Given the description of an element on the screen output the (x, y) to click on. 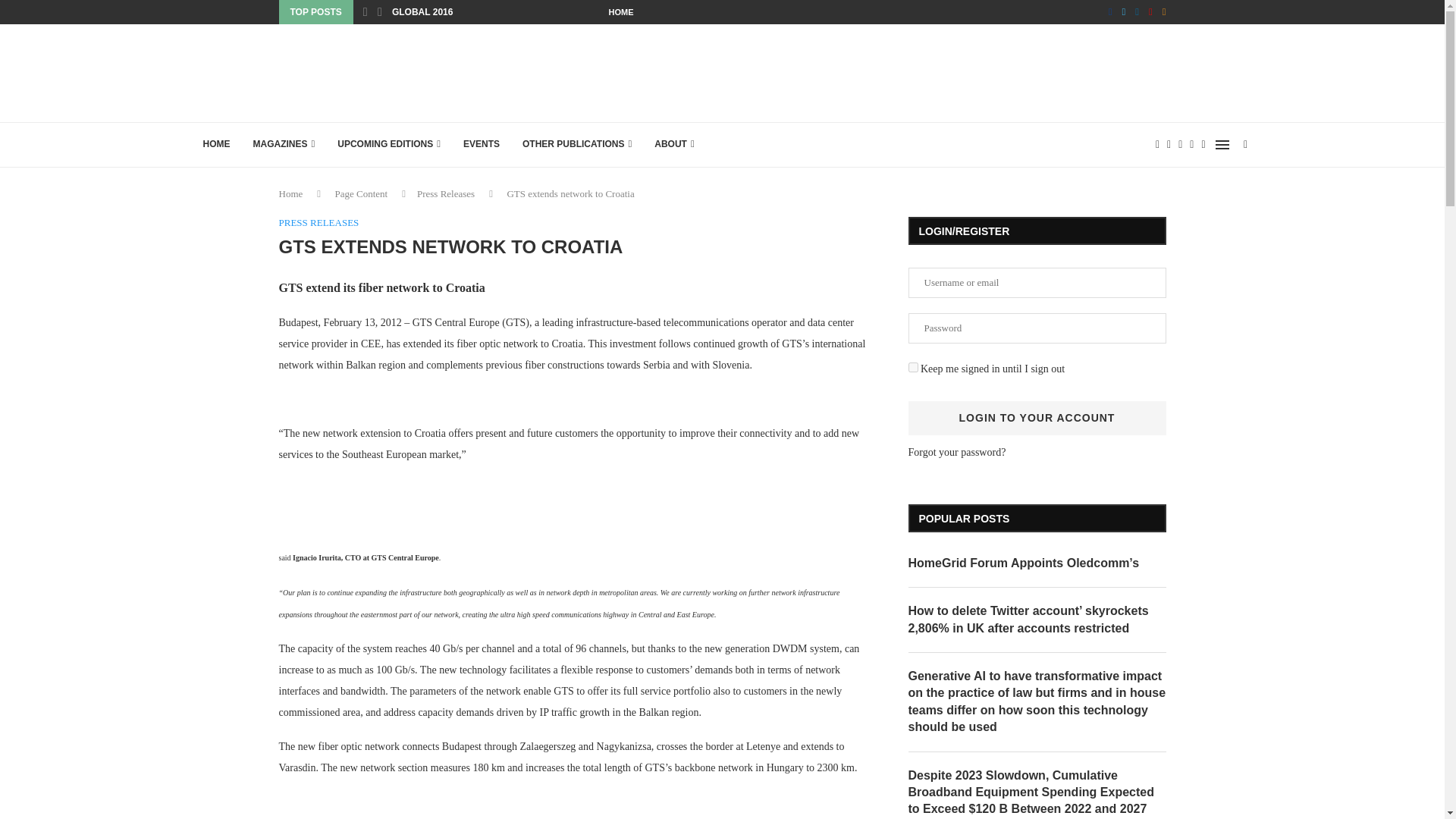
forever (913, 367)
Login to your account (1037, 417)
HOME (620, 12)
MAGAZINES (283, 144)
GLOBAL 2016 (421, 12)
HOME (215, 144)
